Given the description of an element on the screen output the (x, y) to click on. 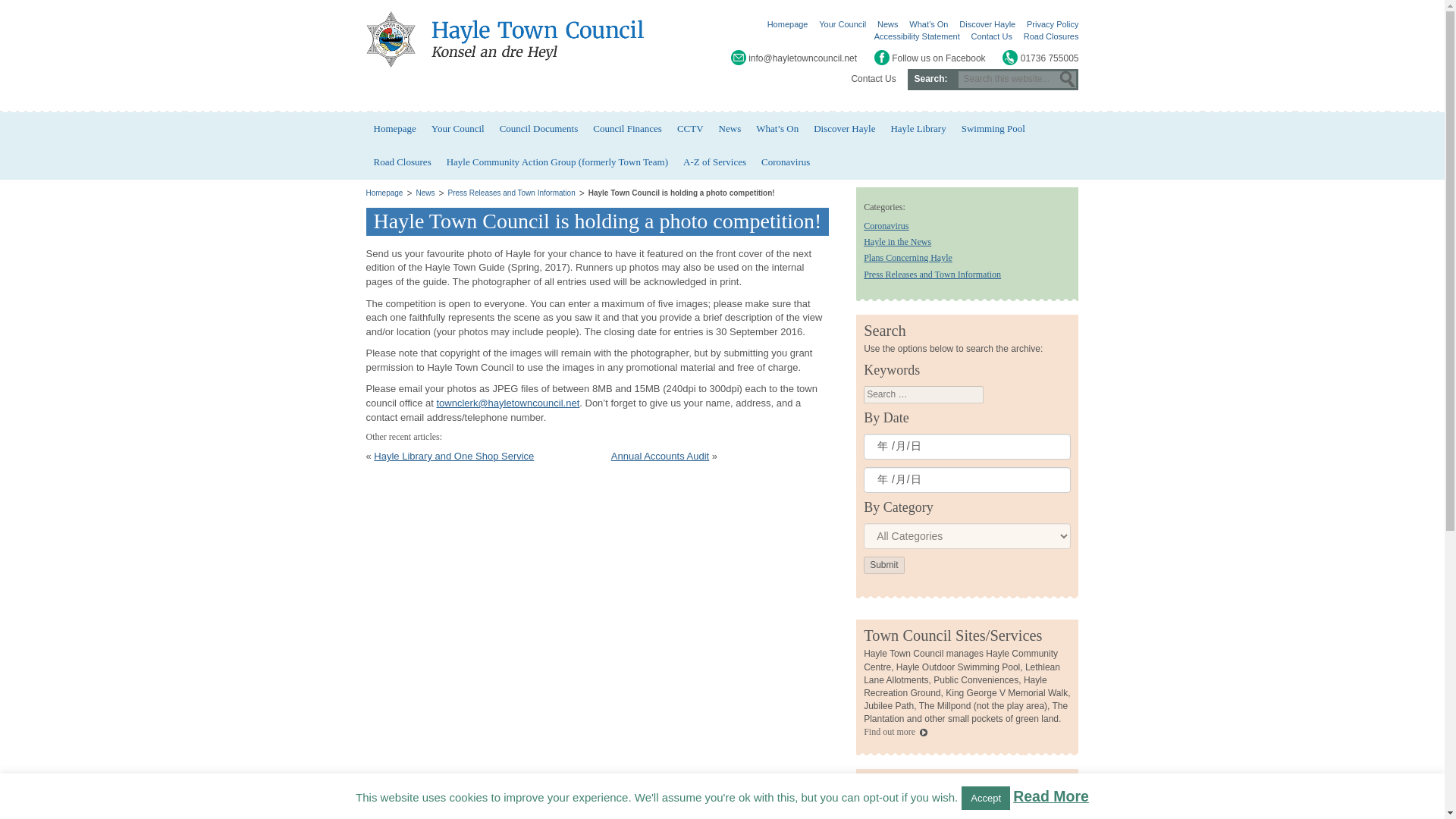
Road Closures (1050, 35)
News (887, 23)
Email Hayle Town Council (793, 58)
Hayle Town Council Homepage (507, 39)
Call Hayle Town Council on 01736 755005 (1040, 58)
Council Documents (539, 128)
Contact Us (991, 35)
Phone (1010, 57)
Hayle Town Council Homepage (507, 39)
Homepage (394, 128)
01736 755005 (1040, 58)
Homepage (384, 193)
Follow us on Facebook (930, 58)
Your Council (457, 128)
Privacy Policy (1052, 23)
